Given the description of an element on the screen output the (x, y) to click on. 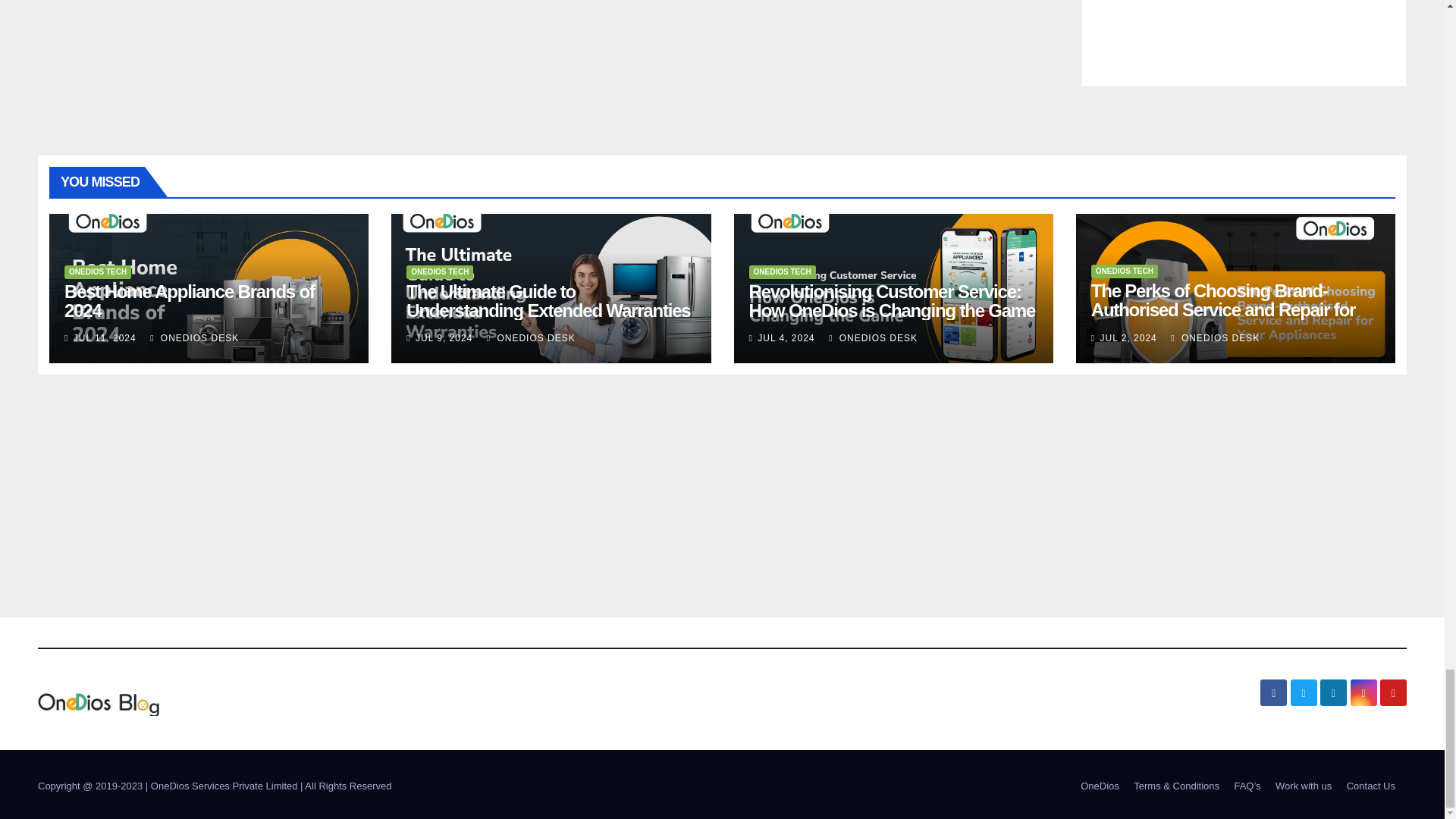
Permalink to: Best Home Appliance Brands of 2024 (189, 301)
